Given the description of an element on the screen output the (x, y) to click on. 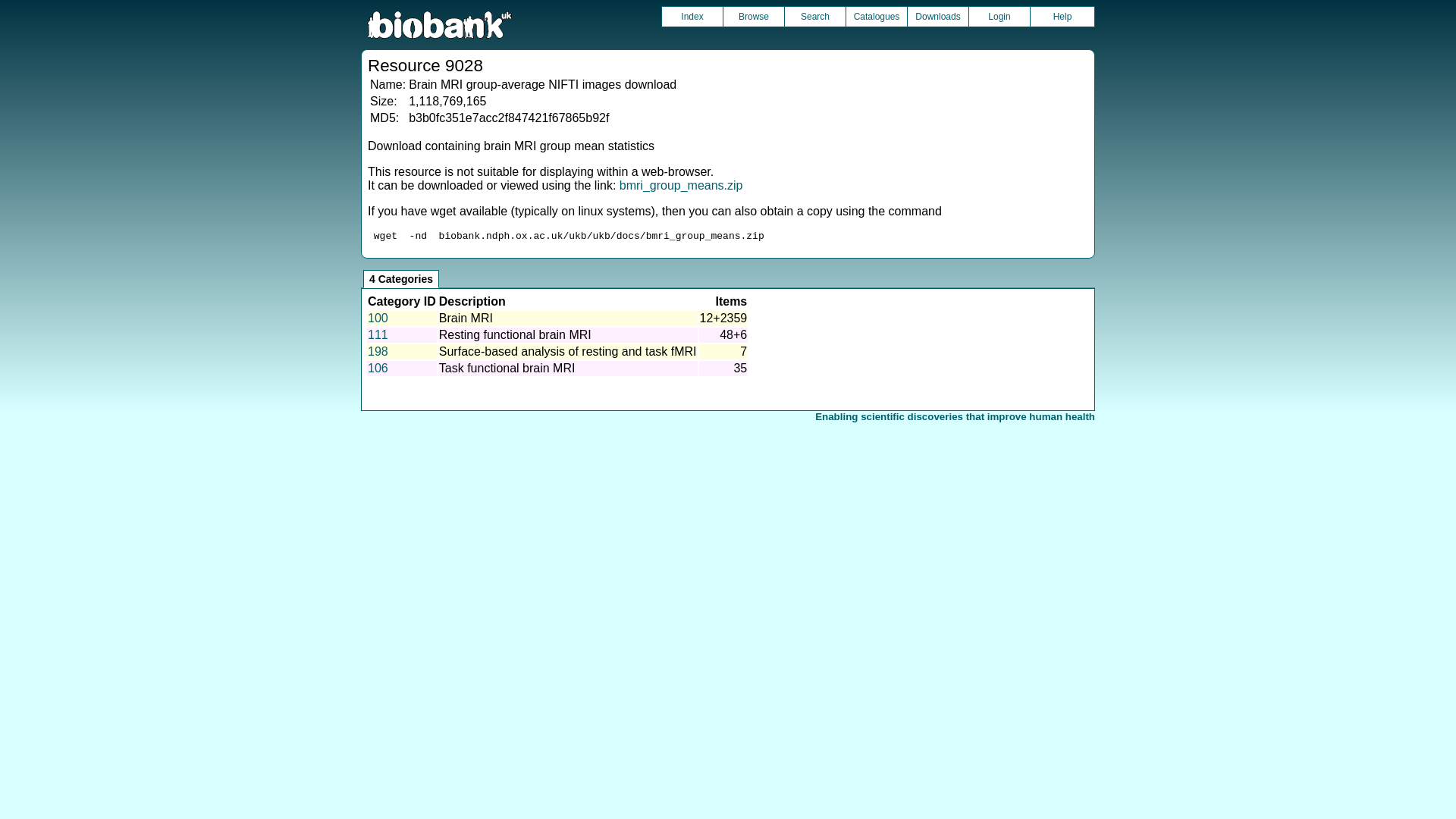
Index (692, 16)
Login (999, 16)
198 (378, 350)
111 (378, 334)
Browse (753, 16)
Downloads (937, 16)
100 (378, 318)
Task functional brain MRI (507, 367)
106 (378, 367)
Help (1062, 16)
